Given the description of an element on the screen output the (x, y) to click on. 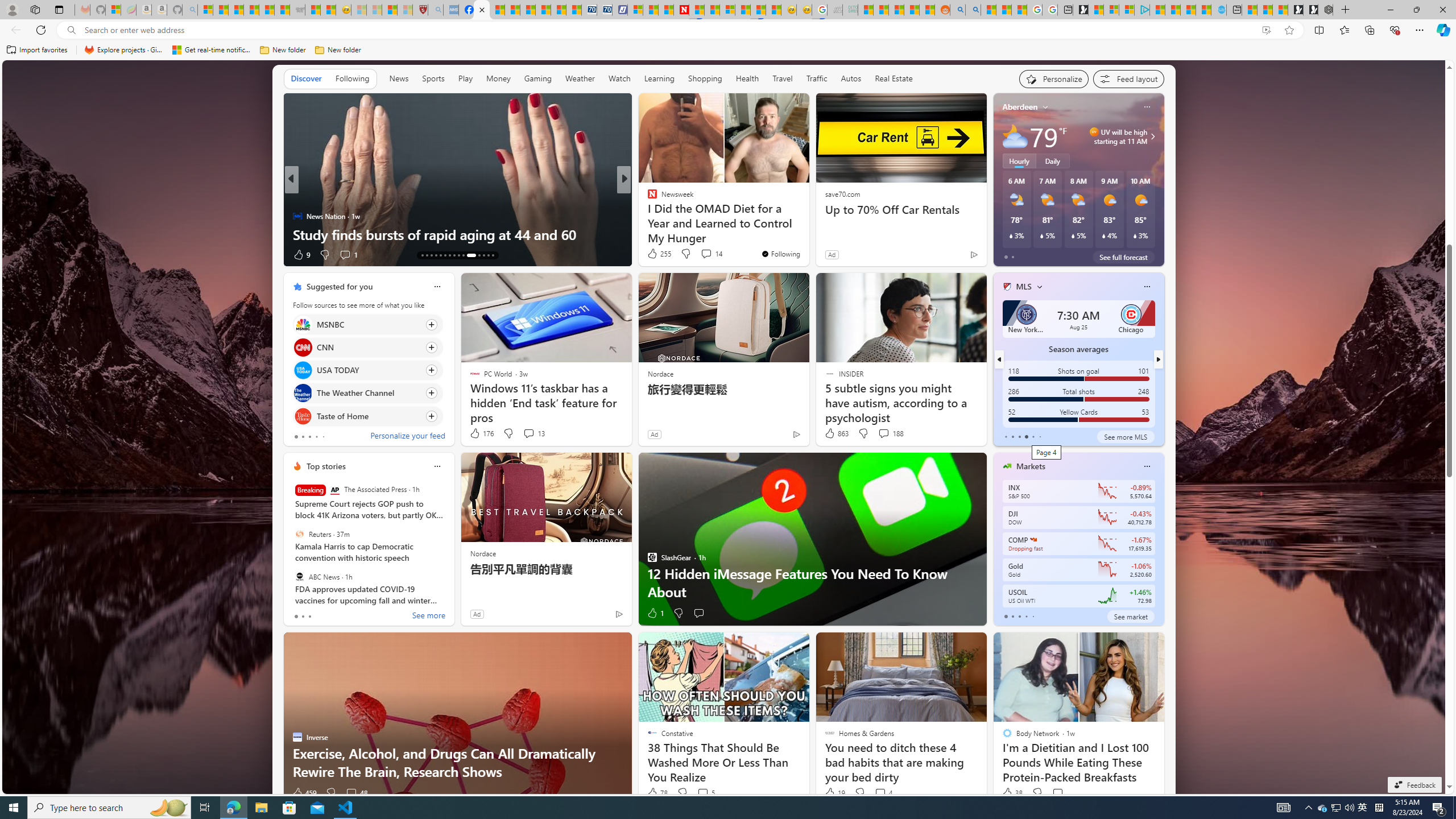
New York City 7:30 AM Aug 25 Chicago (1077, 318)
Click to follow source CNN (367, 347)
577 Like (654, 254)
AutomationID: tab-76 (467, 255)
Best Clean Eating (647, 197)
Utah sues federal government - Search (972, 9)
USA TODAY (302, 370)
See more MLS (1125, 436)
